Given the description of an element on the screen output the (x, y) to click on. 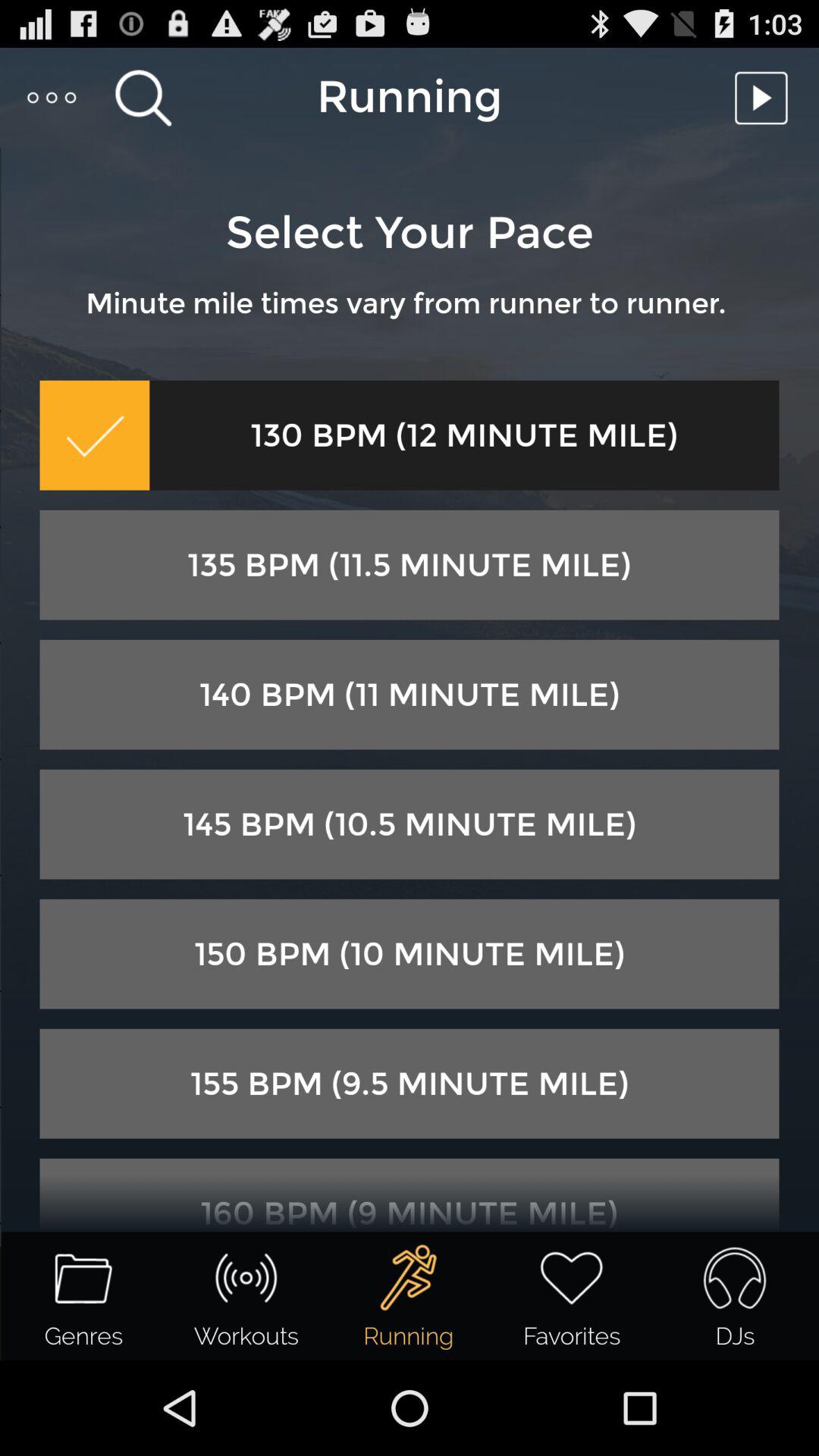
turn on the item above the select your pace icon (142, 97)
